Given the description of an element on the screen output the (x, y) to click on. 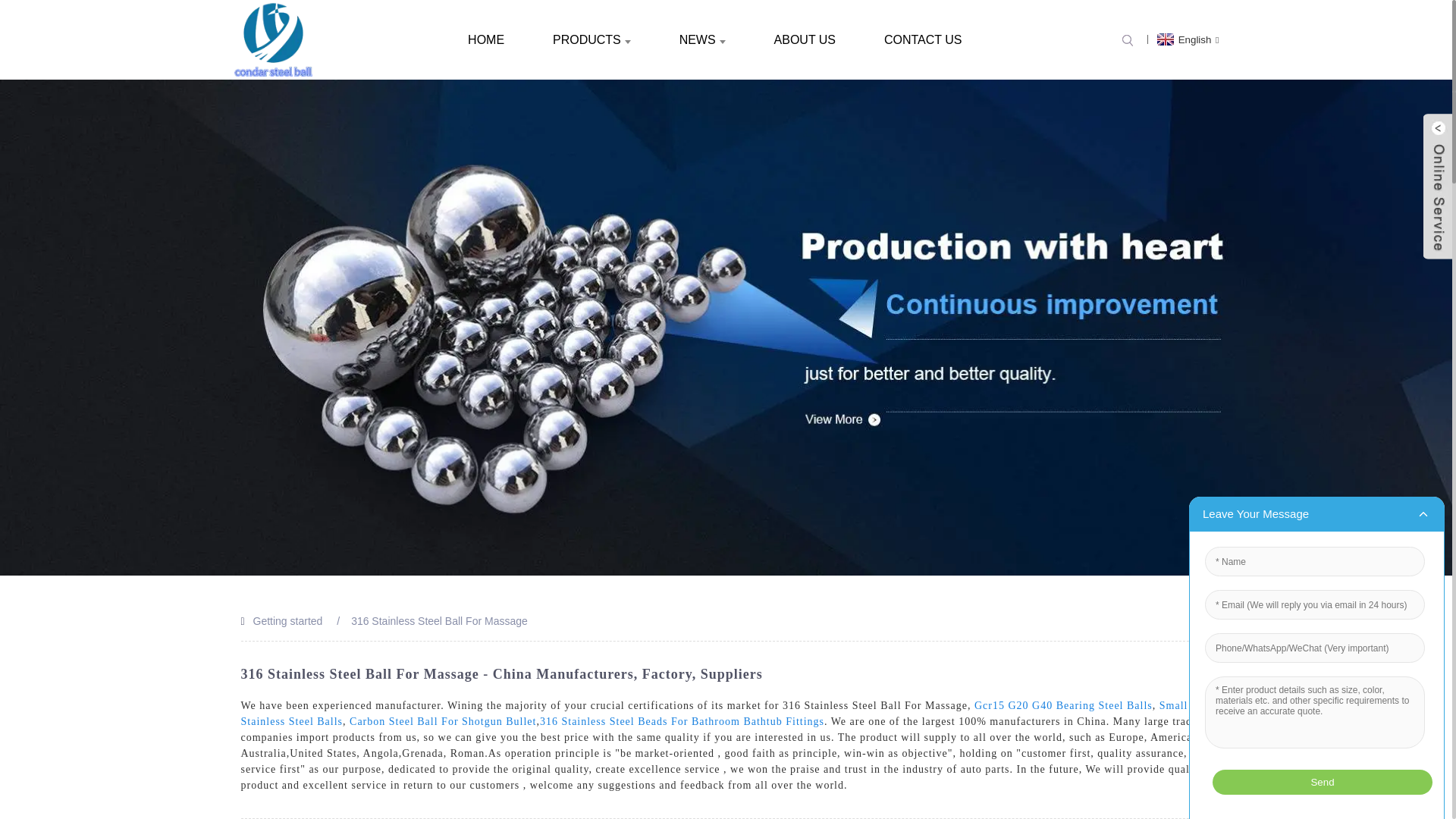
316 Stainless Steel Beads For Bathroom Bathtub Fittings (682, 721)
Gcr15 G20 G40 Bearing Steel Balls (1063, 705)
NEWS (702, 39)
Small Stainless Steel Balls (714, 713)
ABOUT US (804, 39)
Getting started (288, 621)
Gcr15 G20 G40 Bearing Steel Balls (1063, 705)
Small Stainless Steel Balls (714, 713)
Carbon Steel Ball For Shotgun Bullet (442, 721)
Carbon Steel Ball For Shotgun Bullet (442, 721)
CONTACT US (922, 39)
HOME (485, 39)
PRODUCTS (591, 39)
316 Stainless Steel Ball For Massage (438, 621)
English (1186, 39)
